Given the description of an element on the screen output the (x, y) to click on. 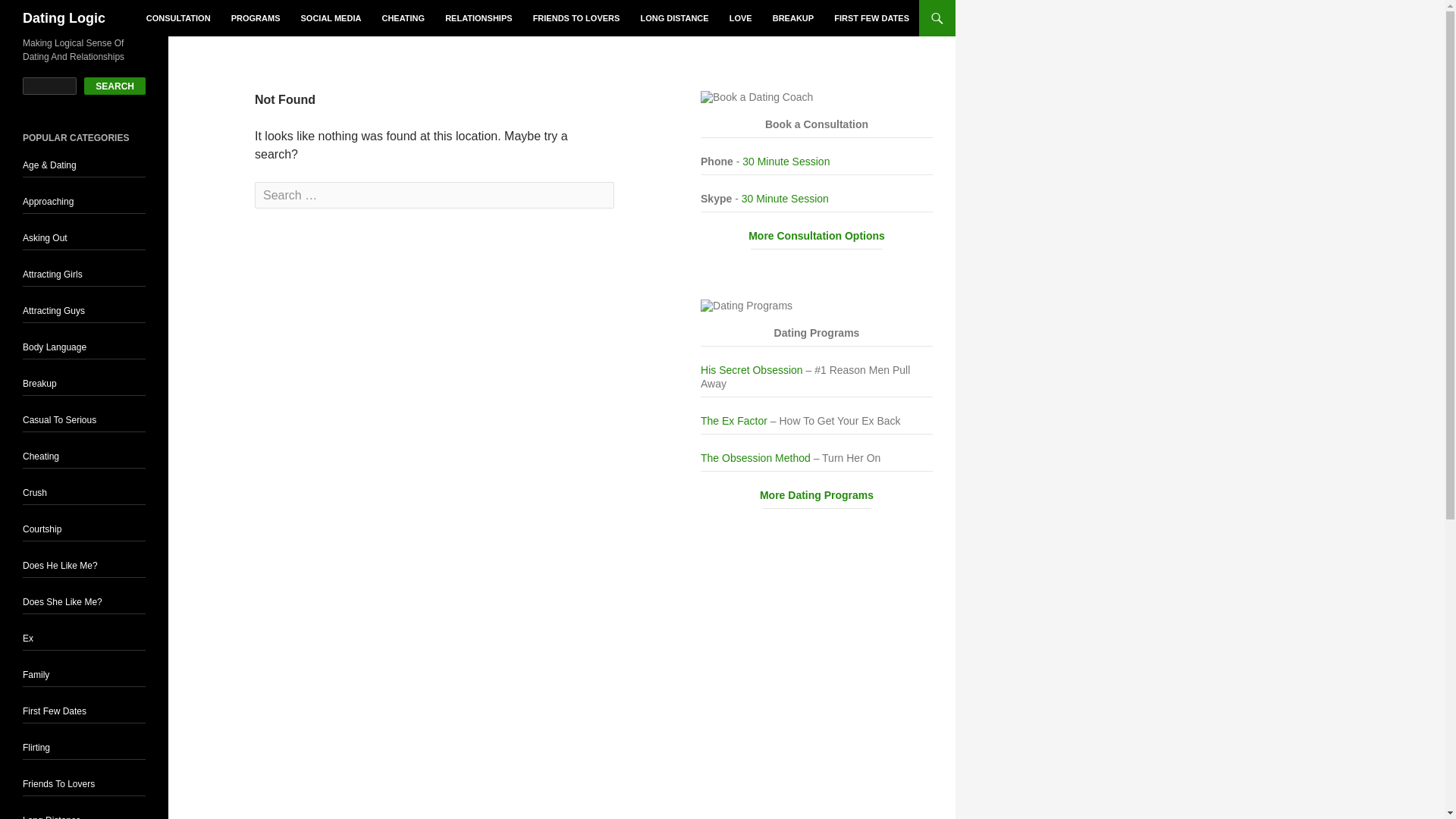
Approaching (48, 201)
FRIENDS TO LOVERS (576, 18)
Does She Like Me? (62, 602)
FIRST FEW DATES (871, 18)
Dating Logic (63, 18)
More Dating Programs (816, 495)
Family (36, 674)
LOVE (740, 18)
His Secret Obsession (751, 369)
Does He Like Me? (60, 565)
